Given the description of an element on the screen output the (x, y) to click on. 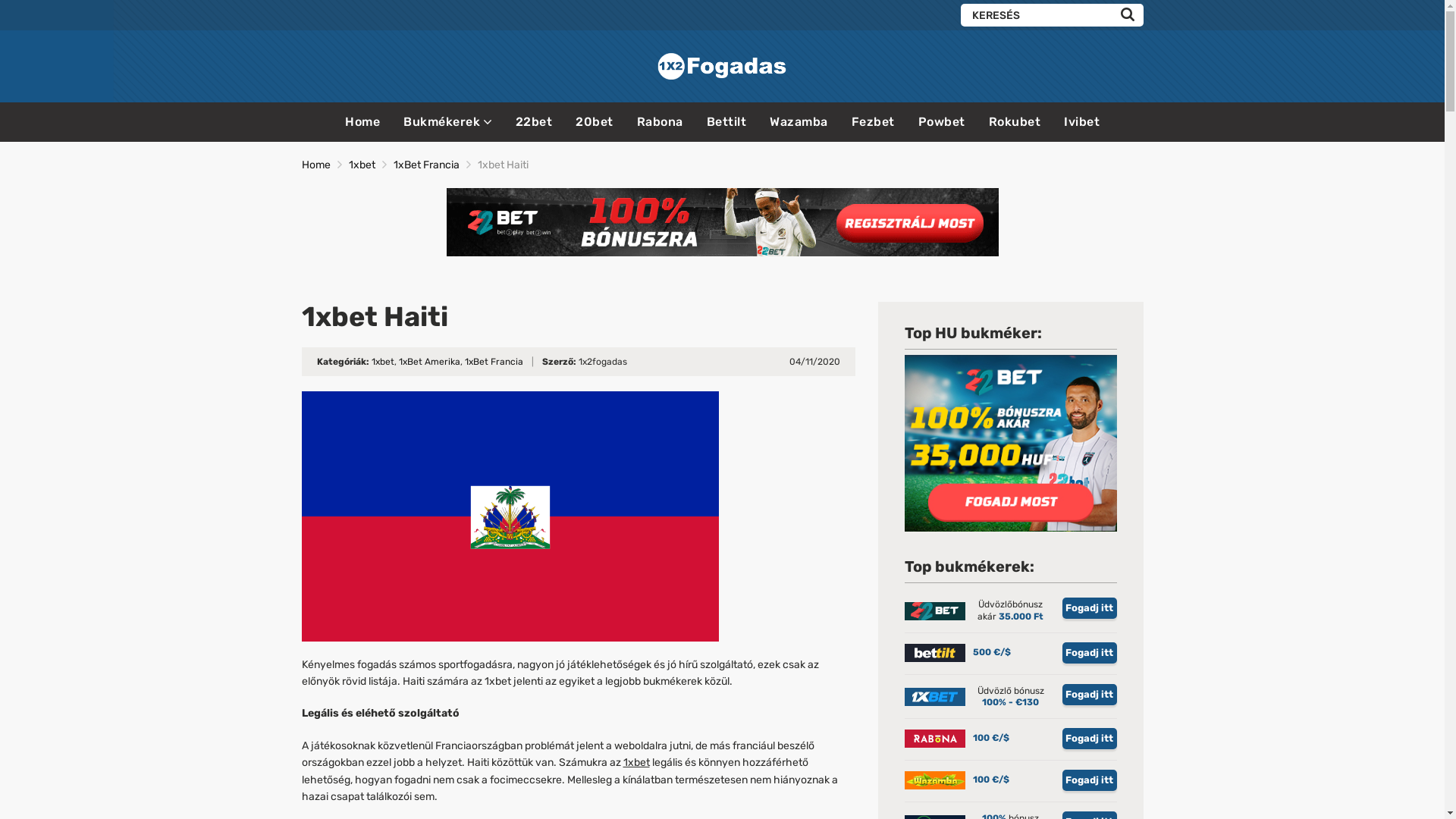
Wazamba Element type: text (798, 121)
1xbet Element type: text (636, 762)
Fogadj itt Element type: text (1088, 694)
1xBet Francia Element type: text (493, 361)
1xbet Element type: text (361, 164)
20bet Element type: text (594, 121)
Fogadj itt Element type: text (1088, 652)
Fezbet Element type: text (872, 121)
Home Element type: text (362, 121)
Fogadj itt Element type: text (1088, 607)
Bettilt Element type: text (726, 121)
Rabona Element type: text (660, 121)
22bet Element type: text (533, 121)
Home Element type: text (315, 164)
1xBet Amerika Element type: text (429, 361)
Powbet Element type: text (940, 121)
1xBet Francia Element type: text (425, 164)
Fogadj itt Element type: text (1088, 779)
Fogadj itt Element type: text (1088, 738)
Ivibet Element type: text (1081, 121)
Rokubet Element type: text (1014, 121)
1xbet Element type: text (382, 361)
